Given the description of an element on the screen output the (x, y) to click on. 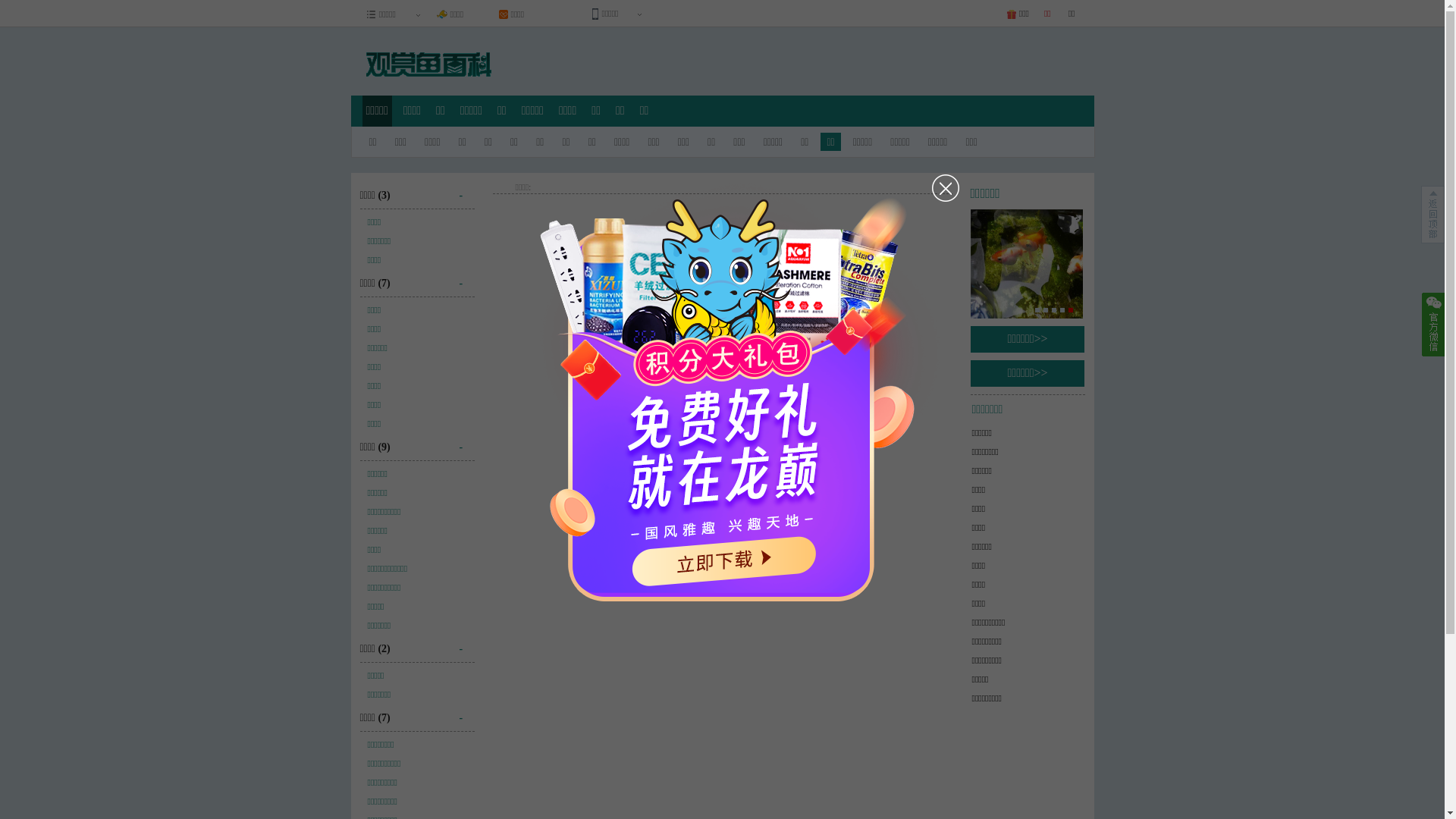
- Element type: text (466, 642)
- Element type: text (466, 440)
- Element type: text (466, 189)
- Element type: text (466, 277)
- Element type: text (466, 711)
